Given the description of an element on the screen output the (x, y) to click on. 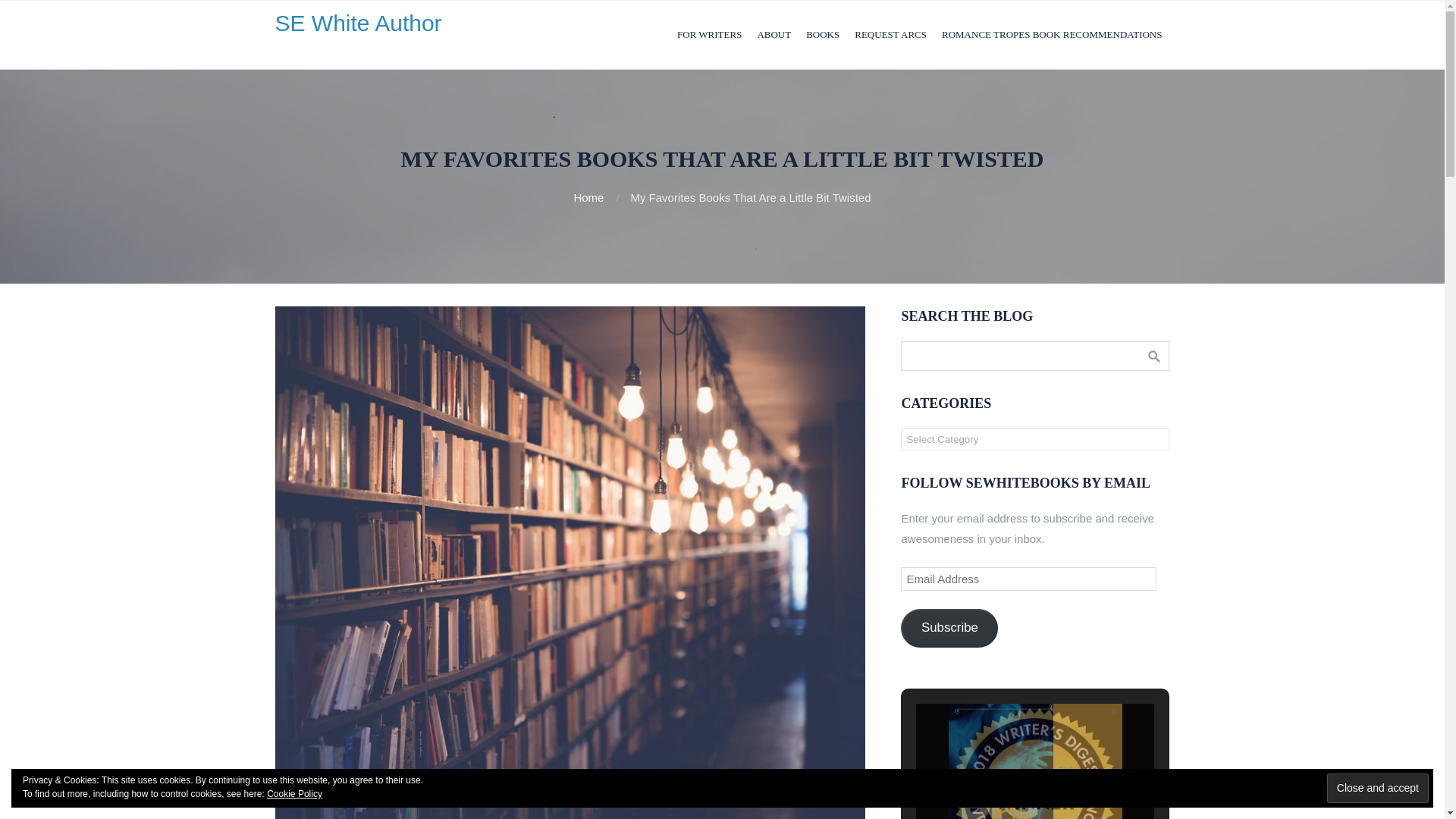
REQUEST ARCS (890, 34)
BOOKS (822, 34)
Close and accept (1377, 788)
ROMANCE TROPES BOOK RECOMMENDATIONS (1052, 34)
ABOUT (773, 34)
Home (588, 196)
SE White Author (358, 23)
FOR WRITERS (709, 34)
